Given the description of an element on the screen output the (x, y) to click on. 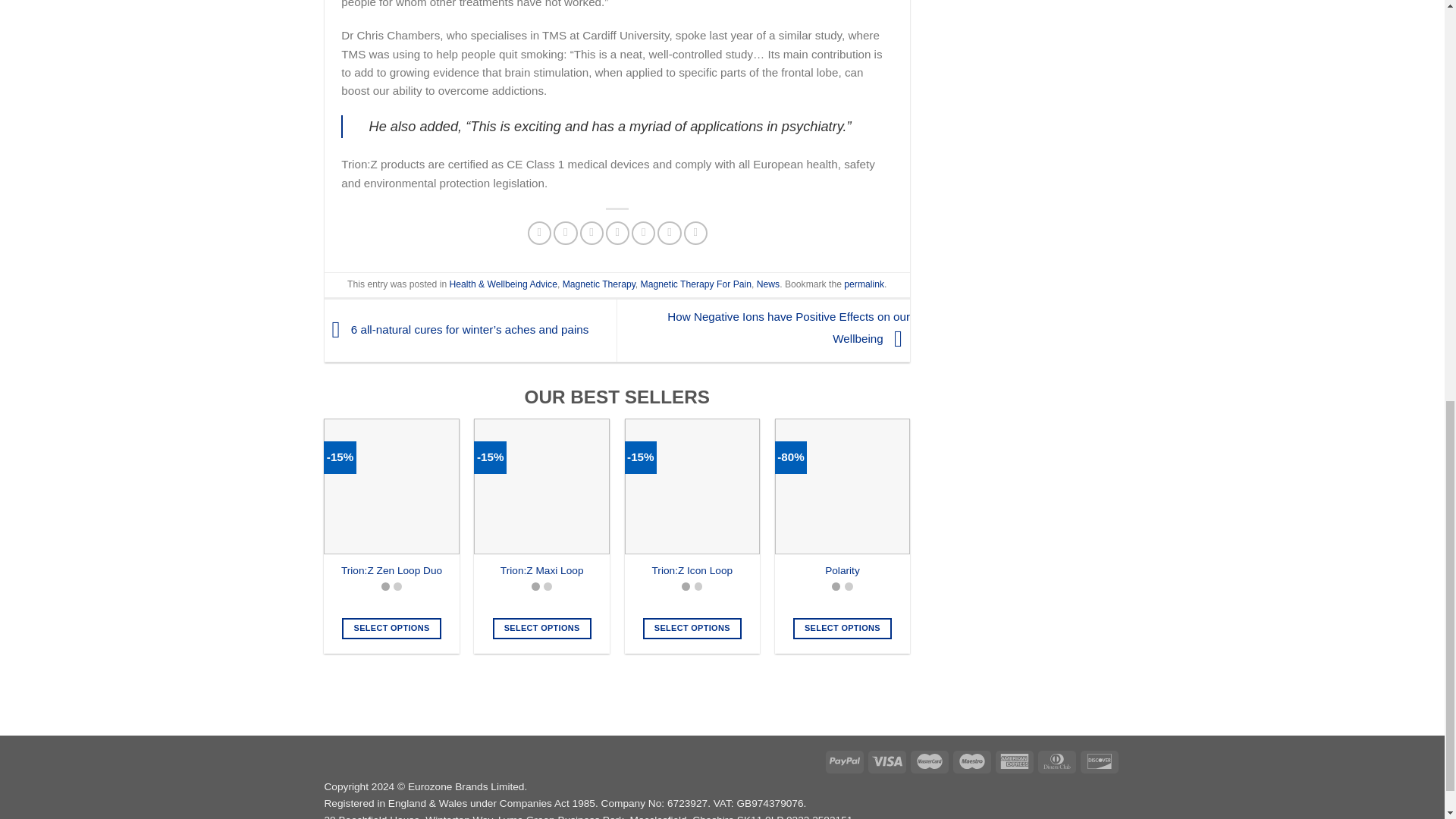
Share on VKontakte (643, 232)
Share on Twitter (564, 232)
Permalink to Magnetic Therapy in Medical studies (863, 284)
Share on Tumblr (695, 232)
Pin on Pinterest (616, 232)
Share on LinkedIn (669, 232)
Share on Facebook (539, 232)
Email to a Friend (590, 232)
